Given the description of an element on the screen output the (x, y) to click on. 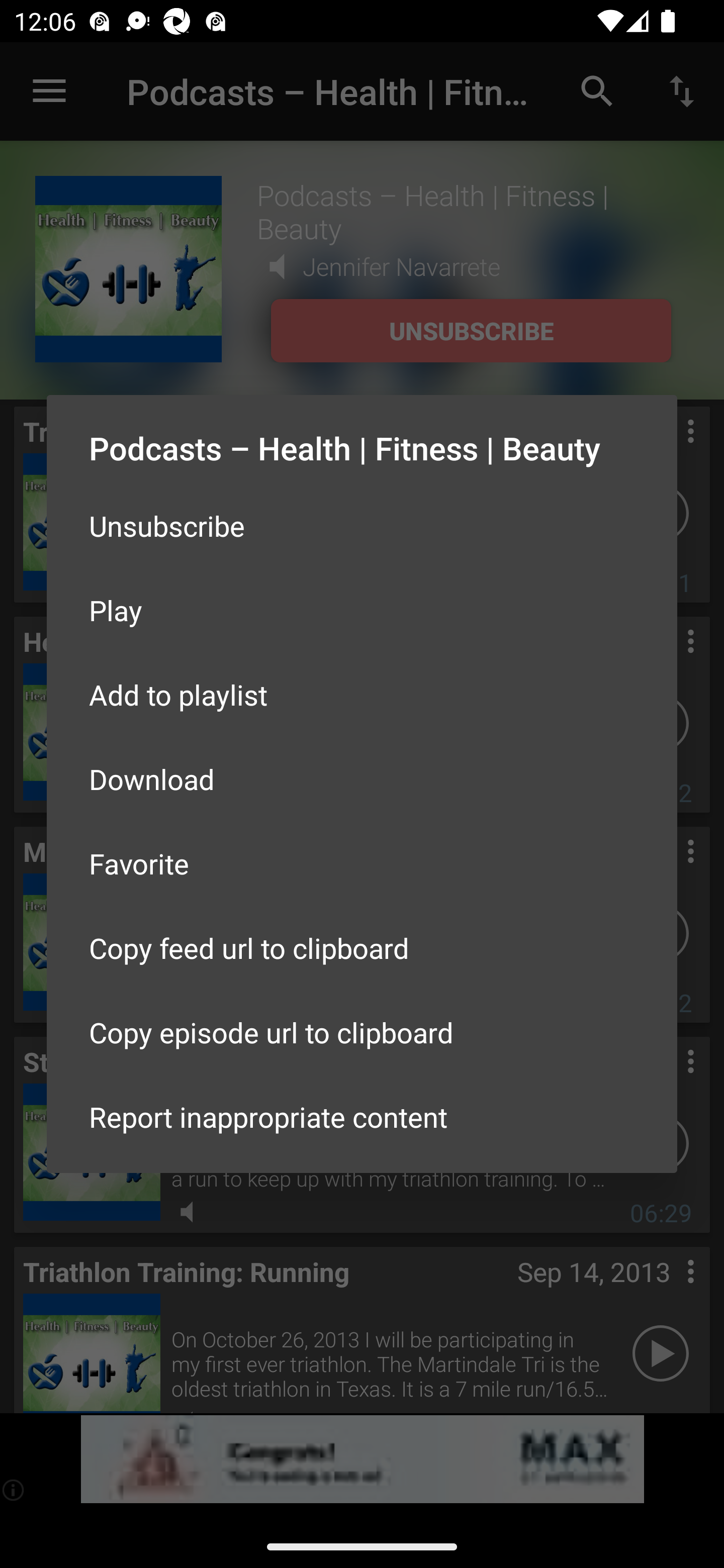
Unsubscribe (361, 524)
Play (361, 609)
Add to playlist (361, 694)
Download (361, 778)
Favorite (361, 863)
Copy feed url to clipboard (361, 947)
Copy episode url to clipboard (361, 1031)
Report inappropriate content (361, 1116)
